Given the description of an element on the screen output the (x, y) to click on. 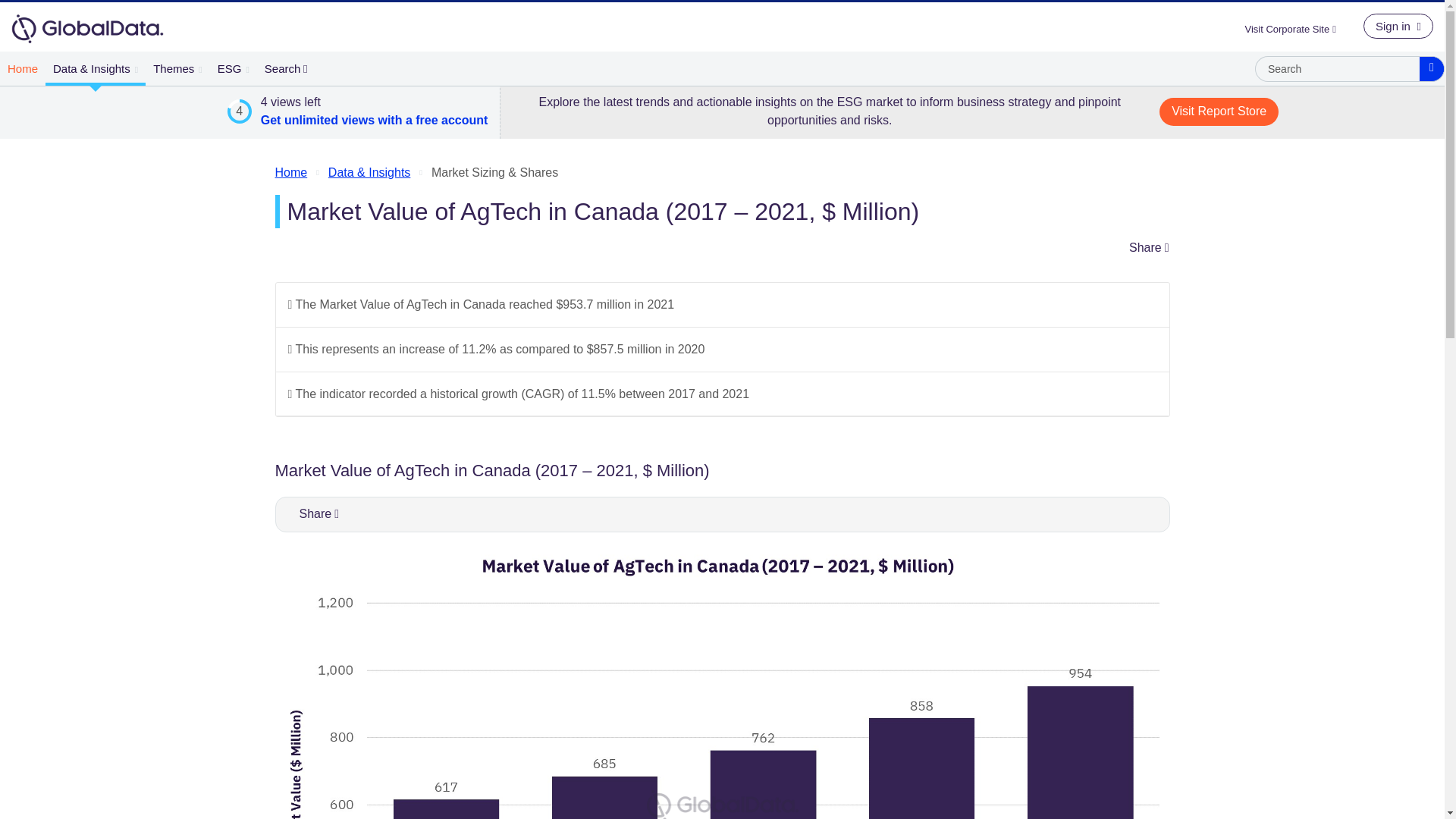
Home (22, 68)
Sign in (1397, 25)
Visit Corporate Site (1296, 28)
